Given the description of an element on the screen output the (x, y) to click on. 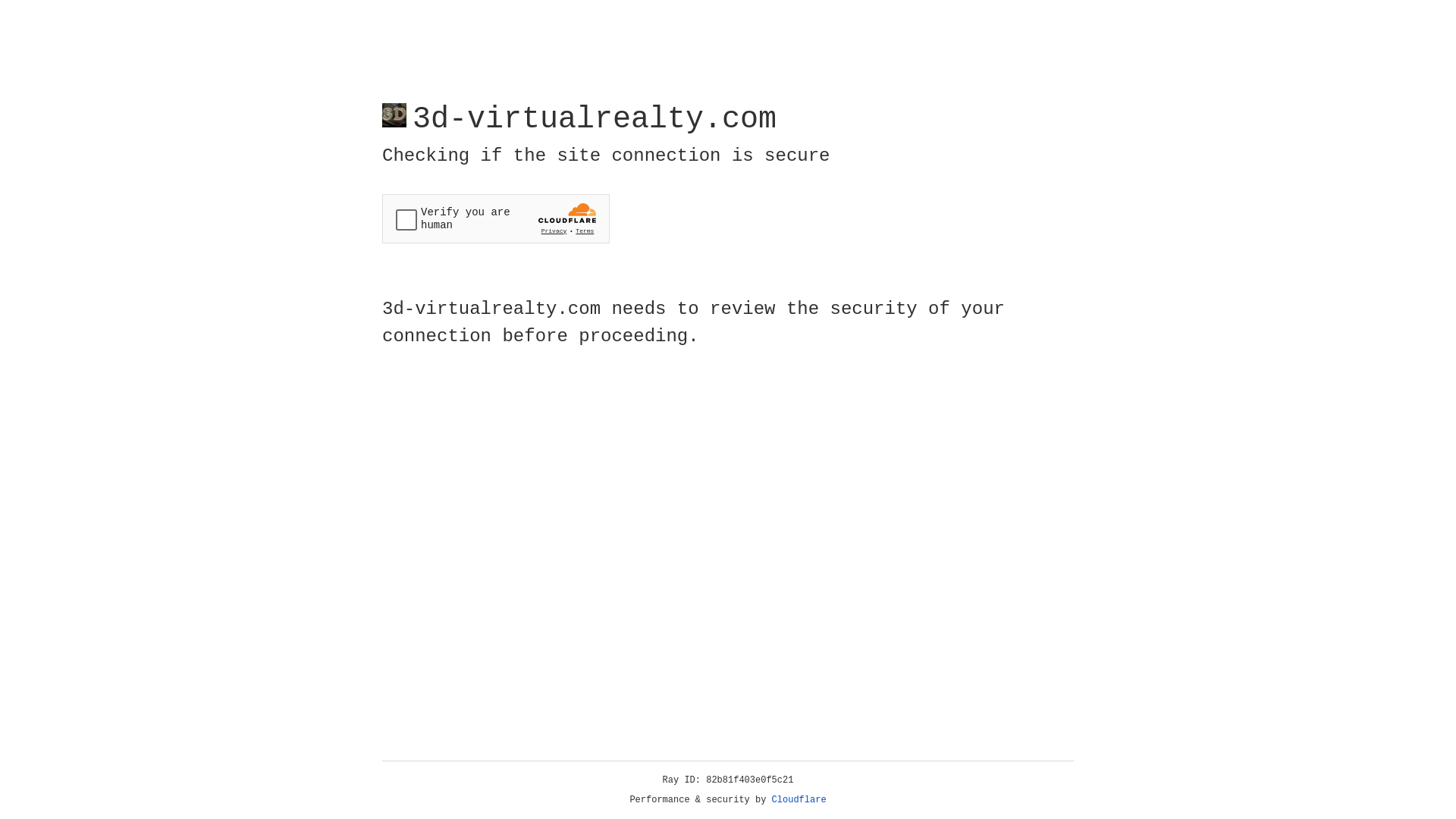
Widget containing a Cloudflare security challenge Element type: hover (495, 218)
Cloudflare Element type: text (798, 799)
